Given the description of an element on the screen output the (x, y) to click on. 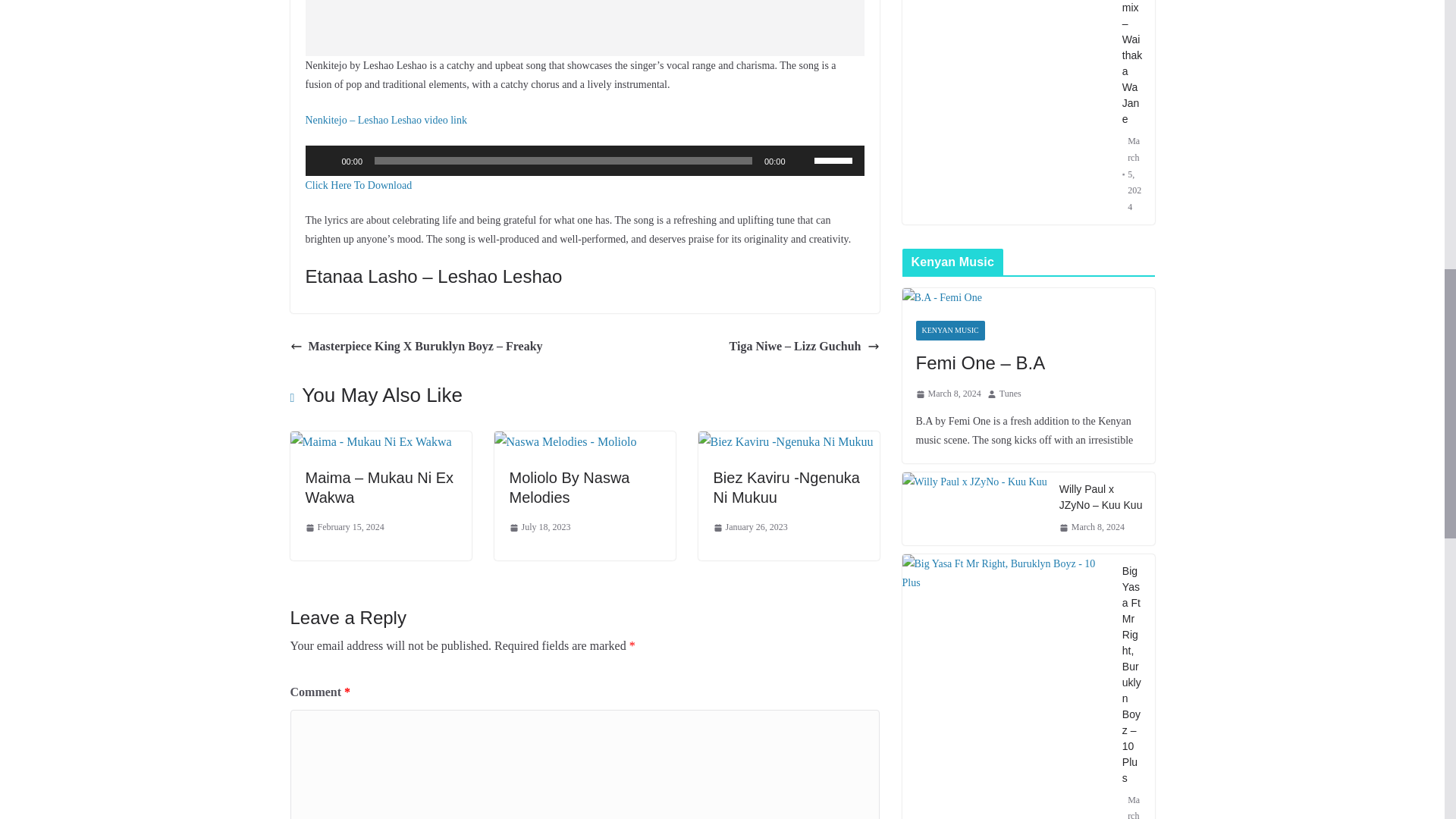
Moliolo By Naswa Melodies (569, 487)
Moliolo By Naswa Melodies (566, 440)
Mute (801, 160)
8:27 am (539, 527)
February 15, 2024 (344, 527)
Moliolo By Naswa Melodies (569, 487)
Play (324, 160)
July 18, 2023 (539, 527)
Click Here To Download (358, 184)
10:50 am (344, 527)
